Given the description of an element on the screen output the (x, y) to click on. 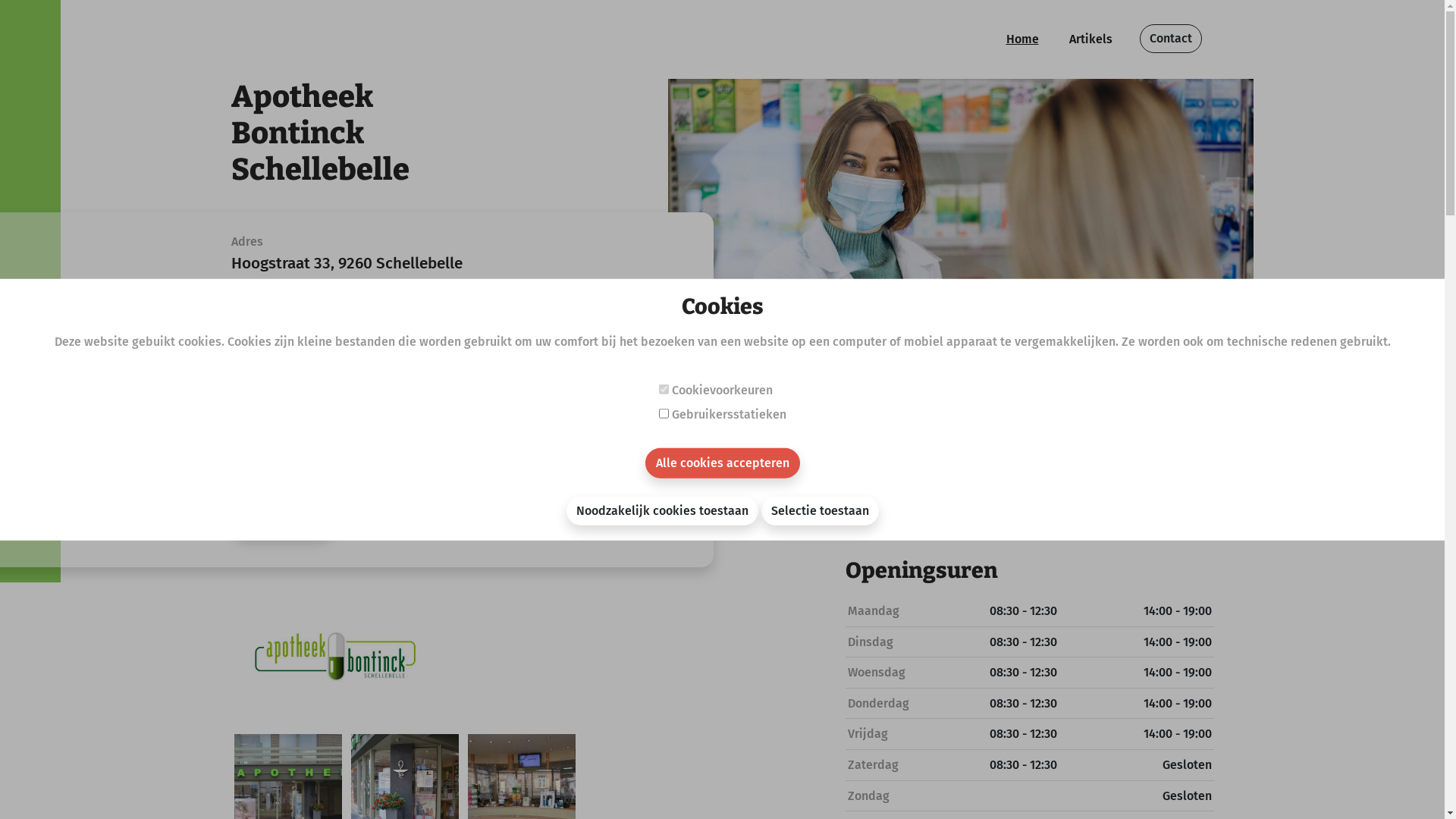
Reserveer hier Element type: text (281, 521)
Alle cookies accepteren Element type: text (721, 462)
Home Element type: text (1021, 39)
Contact Element type: text (1170, 38)
www.apotheekbontinck.be Element type: text (349, 452)
Noodzakelijk cookies toestaan Element type: text (661, 509)
Selectie toestaan Element type: text (819, 509)
Routebeschrijving Element type: text (295, 303)
Artikels Element type: text (1090, 39)
bontincknv.apotheek@skynet.be Element type: text (372, 420)
